Given the description of an element on the screen output the (x, y) to click on. 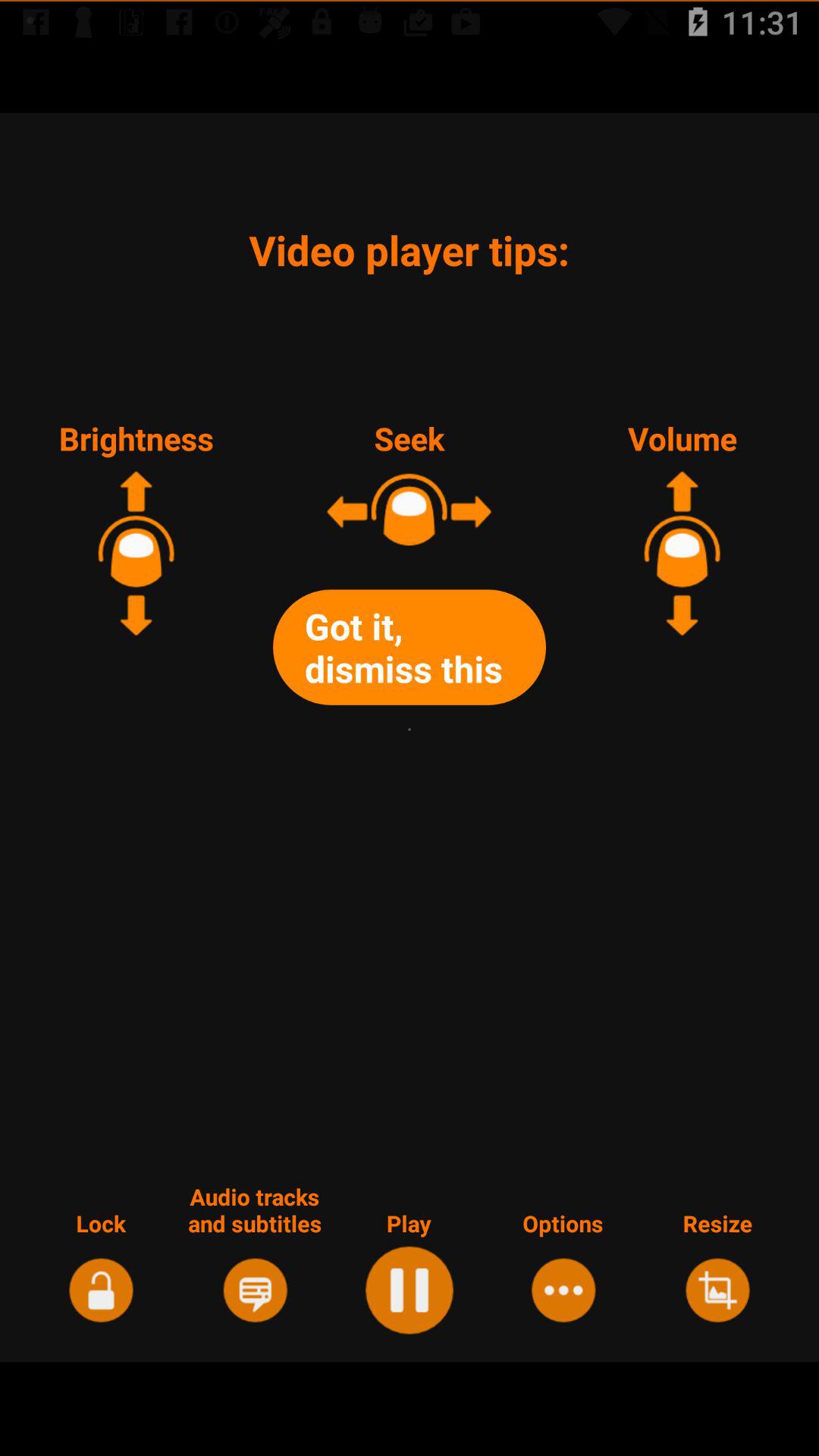
click on the icon right below play (409, 1288)
read the last option of the page (717, 1288)
click on text below seek (409, 645)
select the lock icon (101, 1288)
click on the icon under the text options (563, 1288)
